Given the description of an element on the screen output the (x, y) to click on. 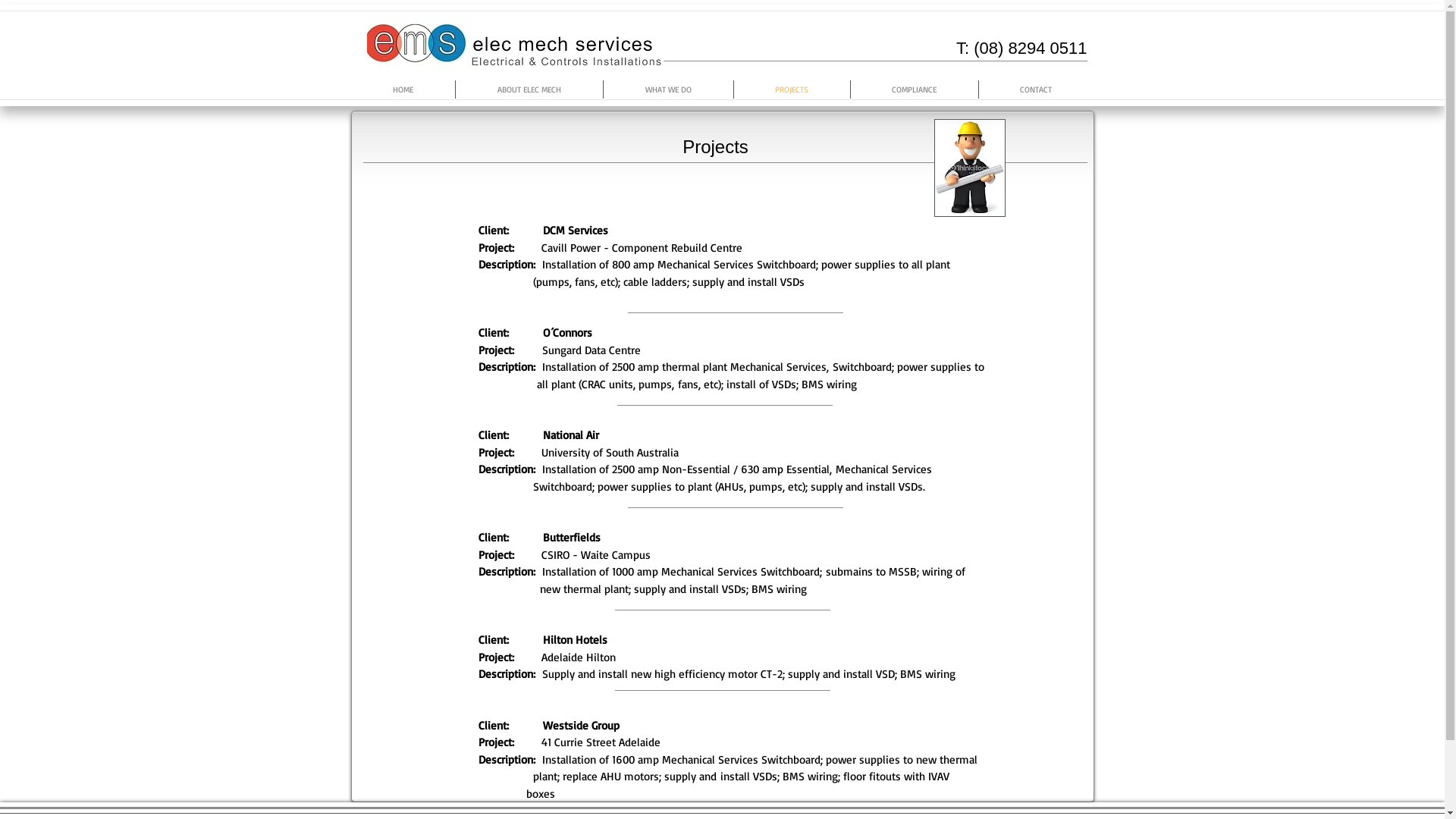
WHAT WE DO Element type: text (668, 89)
COMPLIANCE Element type: text (914, 89)
PROJECTS Element type: text (792, 89)
CONTACT Element type: text (1035, 89)
100844798.jpg Element type: hover (969, 167)
ABOUT ELEC MECH Element type: text (528, 89)
HOME Element type: text (402, 89)
